Given the description of an element on the screen output the (x, y) to click on. 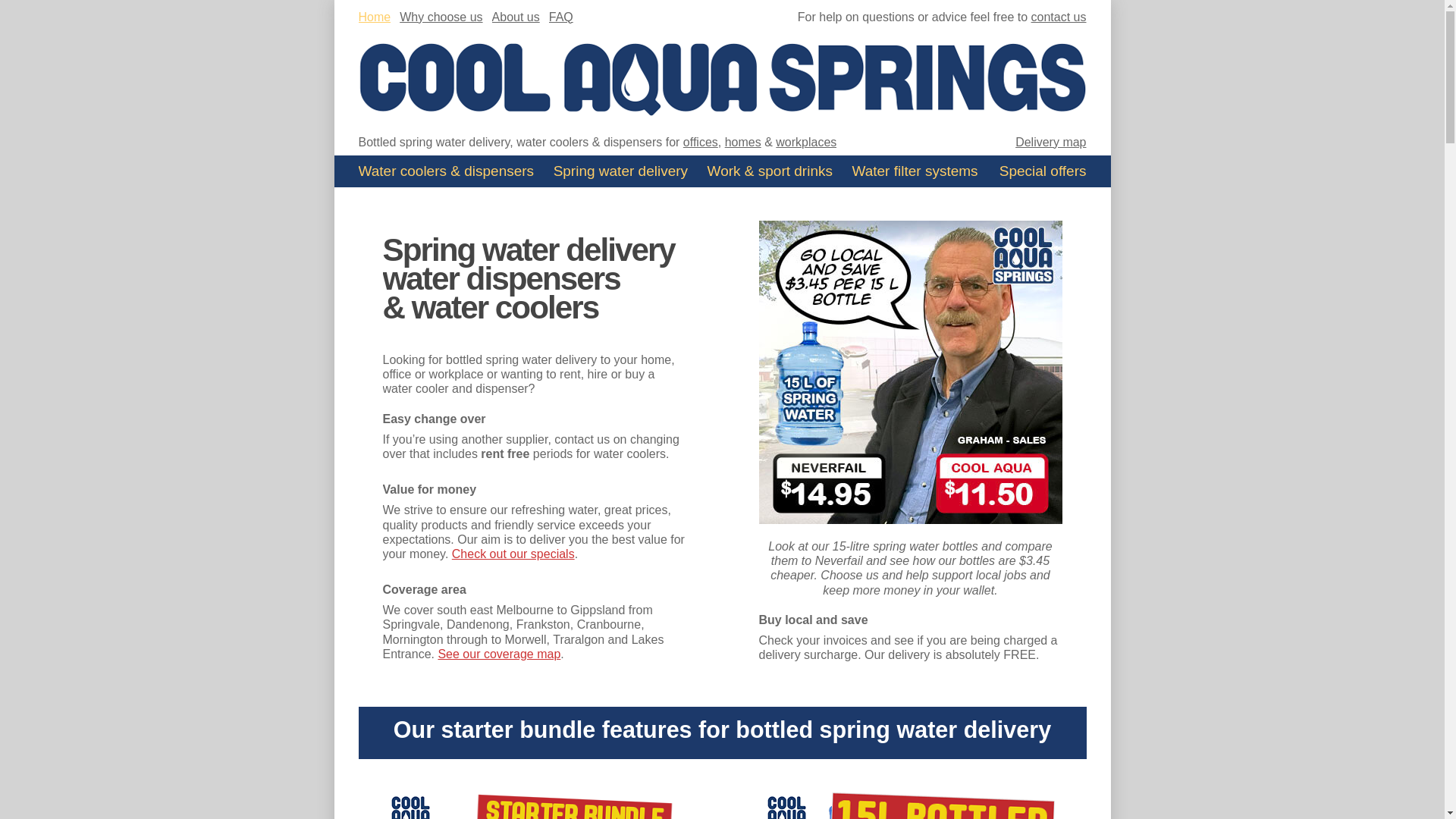
workplaces Element type: text (805, 140)
offices Element type: text (700, 140)
Home Element type: text (373, 16)
About us Element type: text (515, 16)
Spring water delivery Element type: text (620, 170)
FAQ Element type: text (561, 16)
Special offers Element type: text (1042, 170)
See our coverage map Element type: text (498, 653)
Water filter systems Element type: text (914, 170)
Water coolers Element type: text (445, 170)
contact us Element type: text (1058, 16)
homes Element type: text (742, 140)
Why choose us Element type: text (440, 16)
Work & sport drinks Element type: text (769, 170)
Delivery map Element type: text (1050, 140)
Check out our specials Element type: text (512, 553)
